Given the description of an element on the screen output the (x, y) to click on. 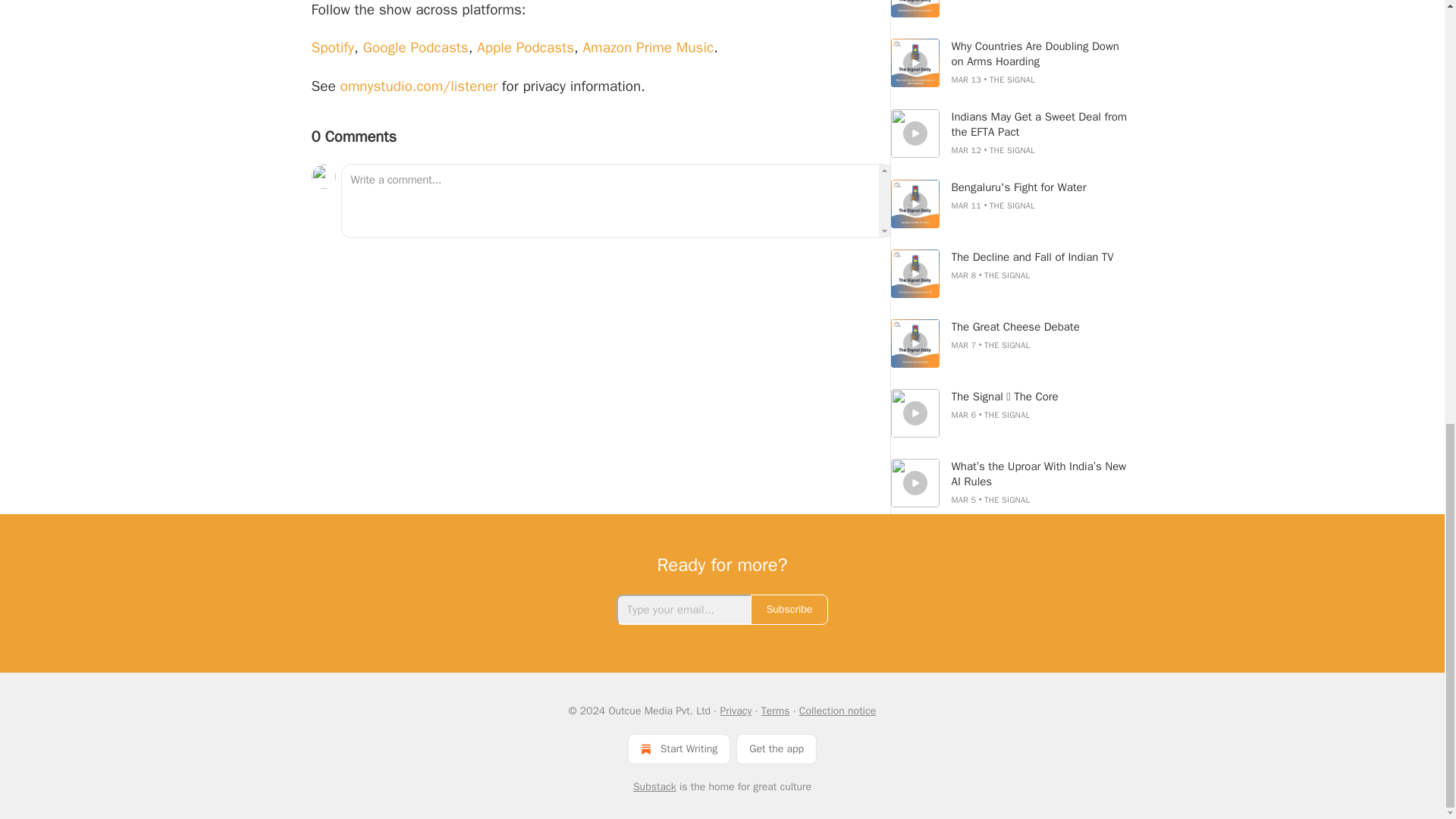
Google Podcasts (414, 47)
Spotify (332, 47)
